Given the description of an element on the screen output the (x, y) to click on. 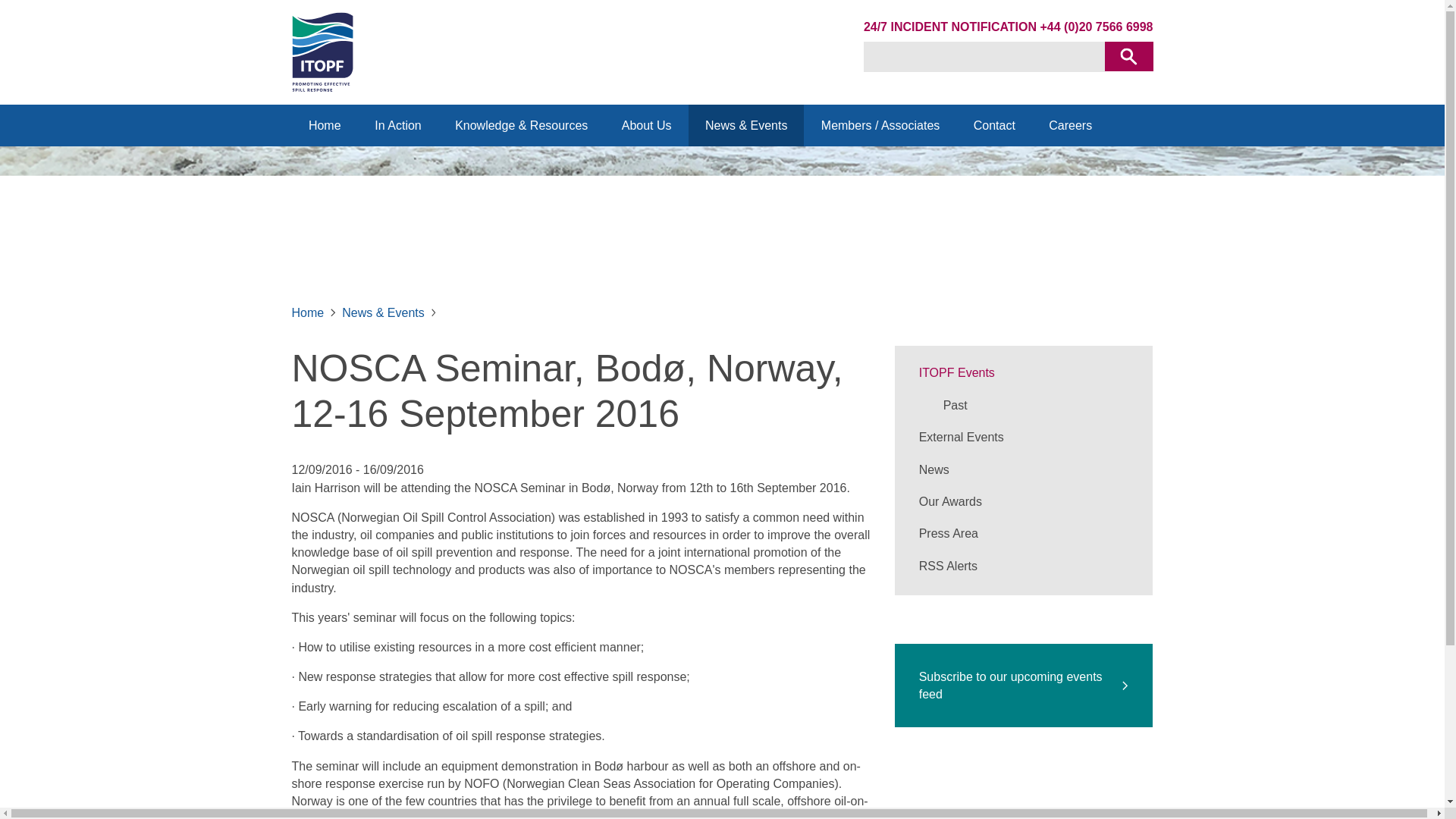
Home (323, 125)
In Action (398, 125)
Search (1128, 56)
In Action (398, 125)
Home (323, 125)
About Us (645, 125)
